Given the description of an element on the screen output the (x, y) to click on. 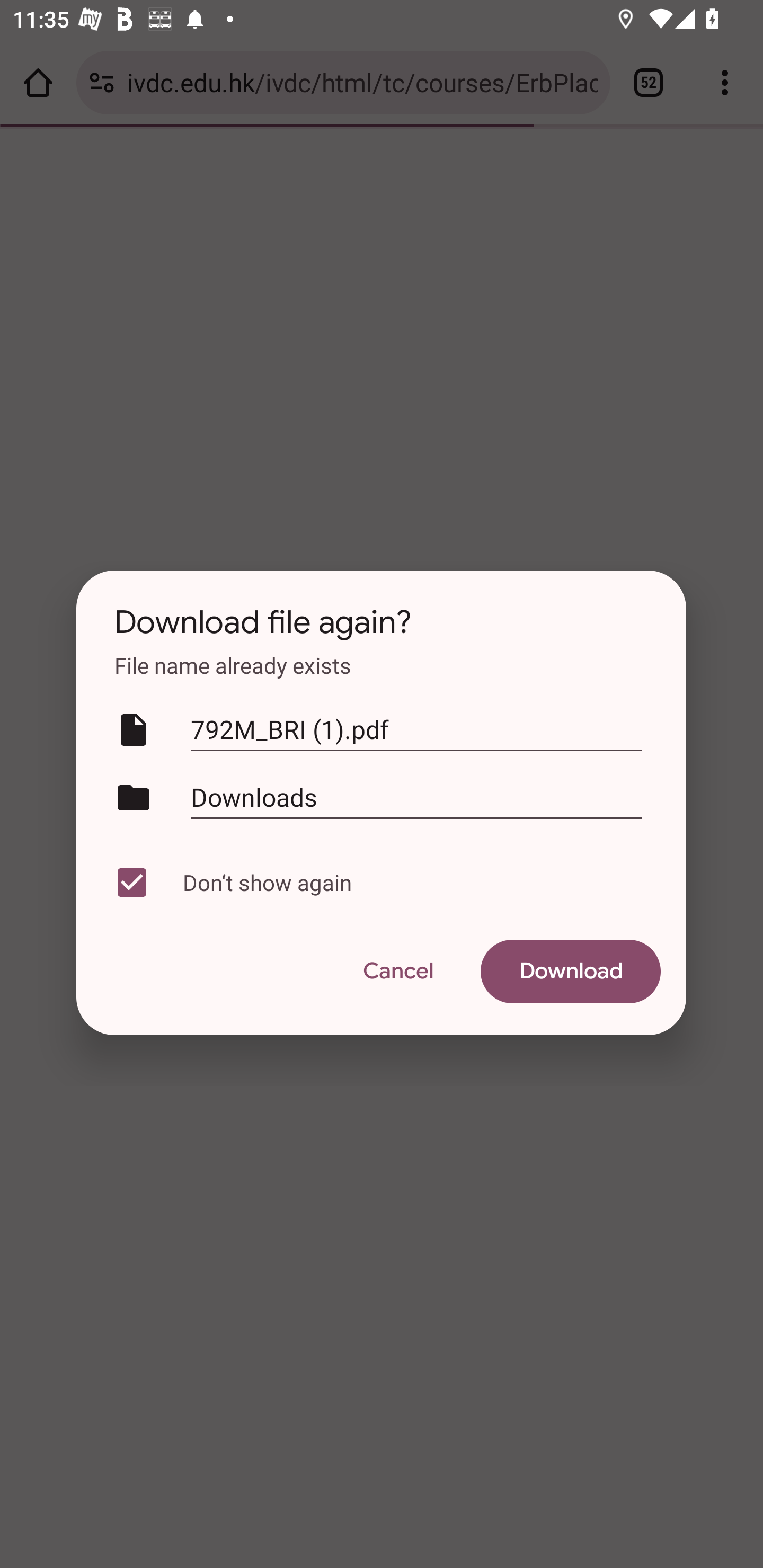
792M_BRI (1).pdf (415, 729)
Downloads (415, 797)
Don‘t show again (376, 882)
Cancel (397, 970)
Download (570, 970)
